Given the description of an element on the screen output the (x, y) to click on. 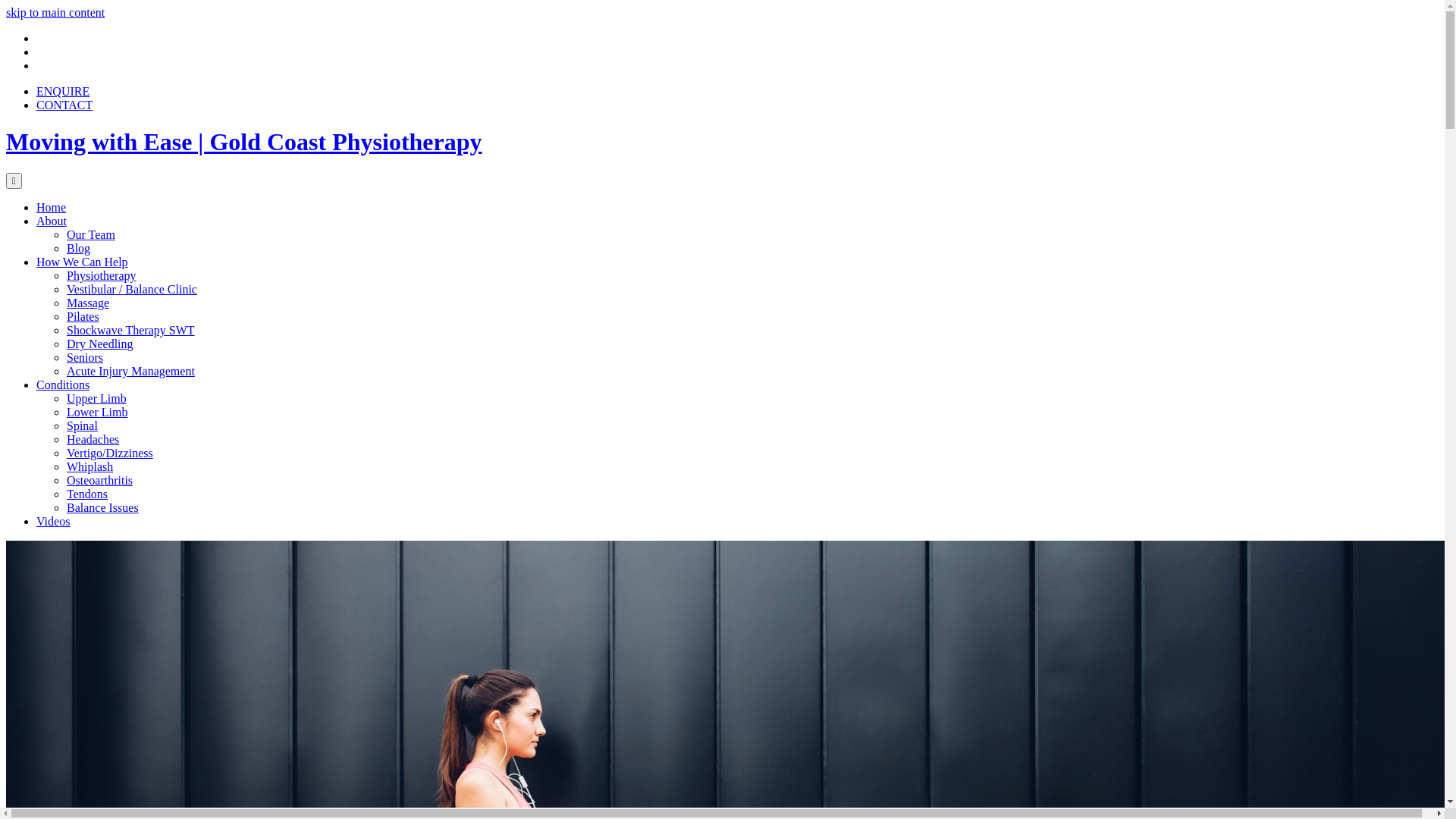
About Element type: text (51, 220)
Moving with Ease | Gold Coast Physiotherapy Element type: text (244, 141)
Balance Issues Element type: text (102, 507)
Headaches Element type: text (92, 439)
Upper Limb Element type: text (96, 398)
ENQUIRE Element type: text (62, 90)
Acute Injury Management Element type: text (130, 370)
How We Can Help Element type: text (82, 261)
Spinal Element type: text (81, 425)
Massage Element type: text (87, 302)
Shockwave Therapy SWT Element type: text (130, 329)
Dry Needling Element type: text (99, 343)
Pilates Element type: text (82, 316)
Physiotherapy Element type: text (101, 275)
Conditions Element type: text (62, 384)
Lower Limb Element type: text (96, 411)
Vestibular / Balance Clinic Element type: text (131, 288)
Vertigo/Dizziness Element type: text (109, 452)
Tendons Element type: text (86, 493)
skip to main content Element type: text (55, 12)
Seniors Element type: text (84, 357)
CONTACT Element type: text (64, 104)
Blog Element type: text (78, 247)
Our Team Element type: text (90, 234)
Videos Element type: text (52, 520)
Osteoarthritis Element type: text (99, 479)
Whiplash Element type: text (89, 466)
Home Element type: text (50, 206)
